Given the description of an element on the screen output the (x, y) to click on. 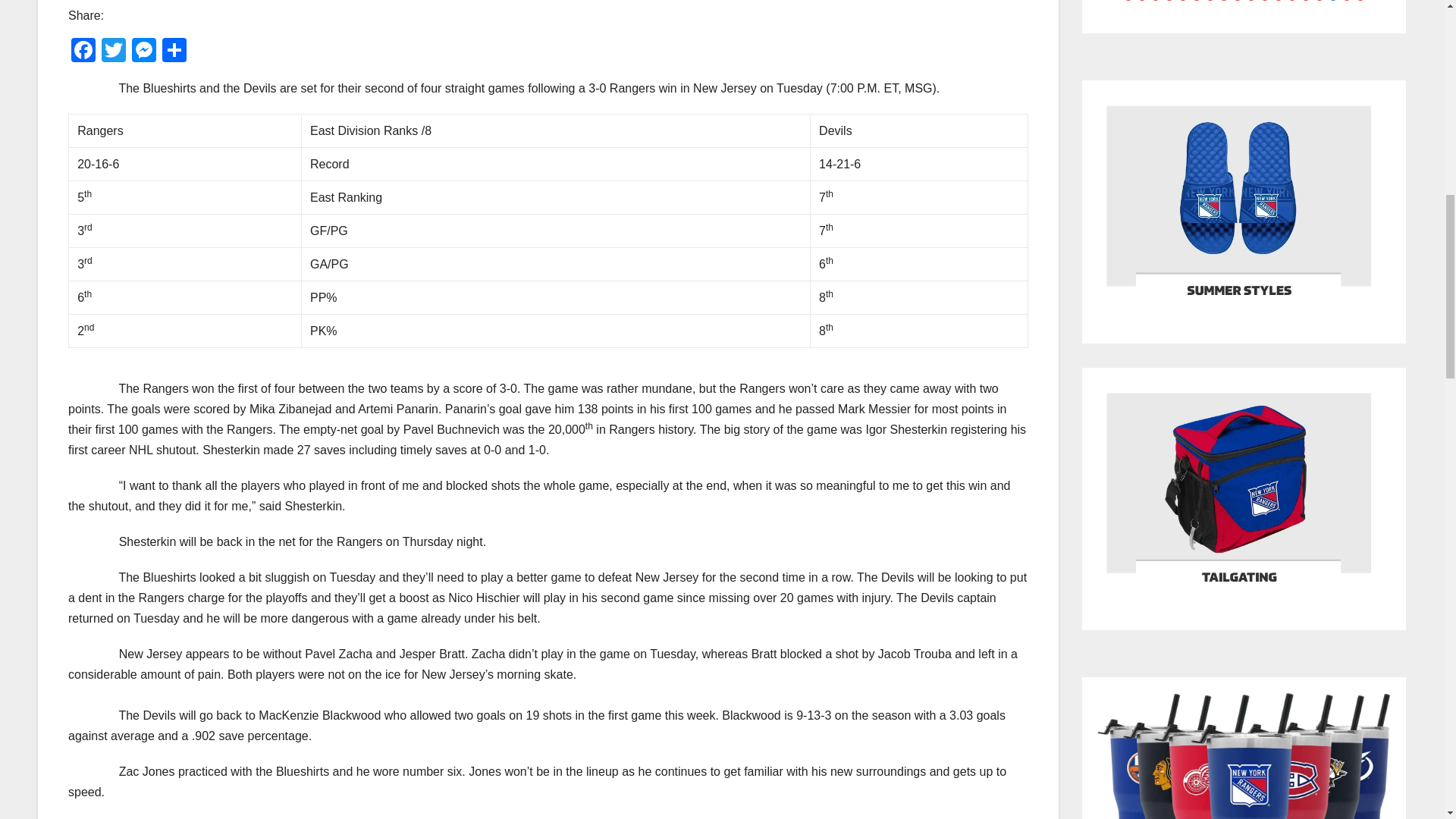
Twitter (114, 51)
Share (173, 51)
Messenger (143, 51)
Facebook (83, 51)
